Given the description of an element on the screen output the (x, y) to click on. 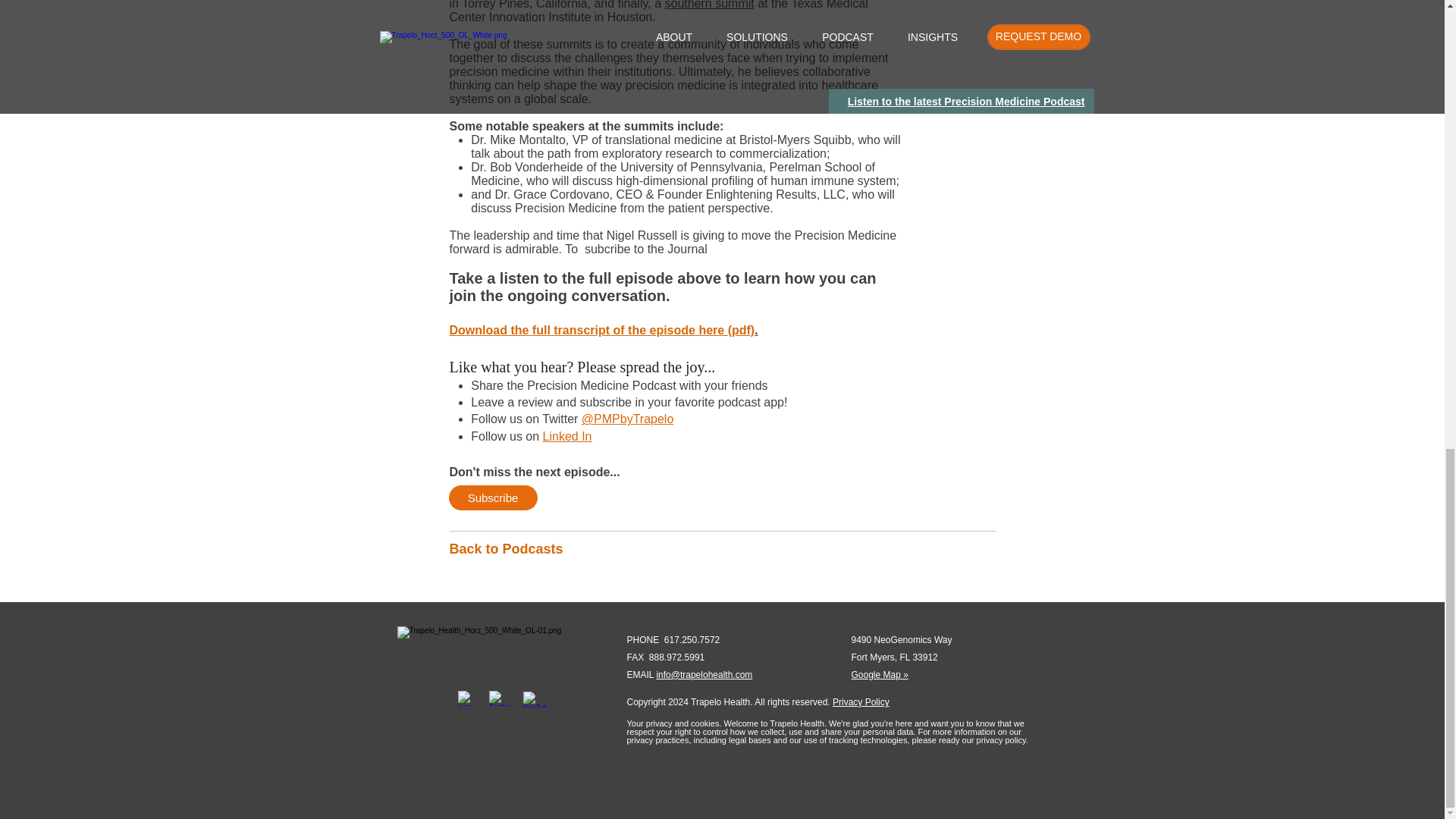
Subscribe (492, 497)
Linked In (567, 436)
southern summit (708, 4)
